Given the description of an element on the screen output the (x, y) to click on. 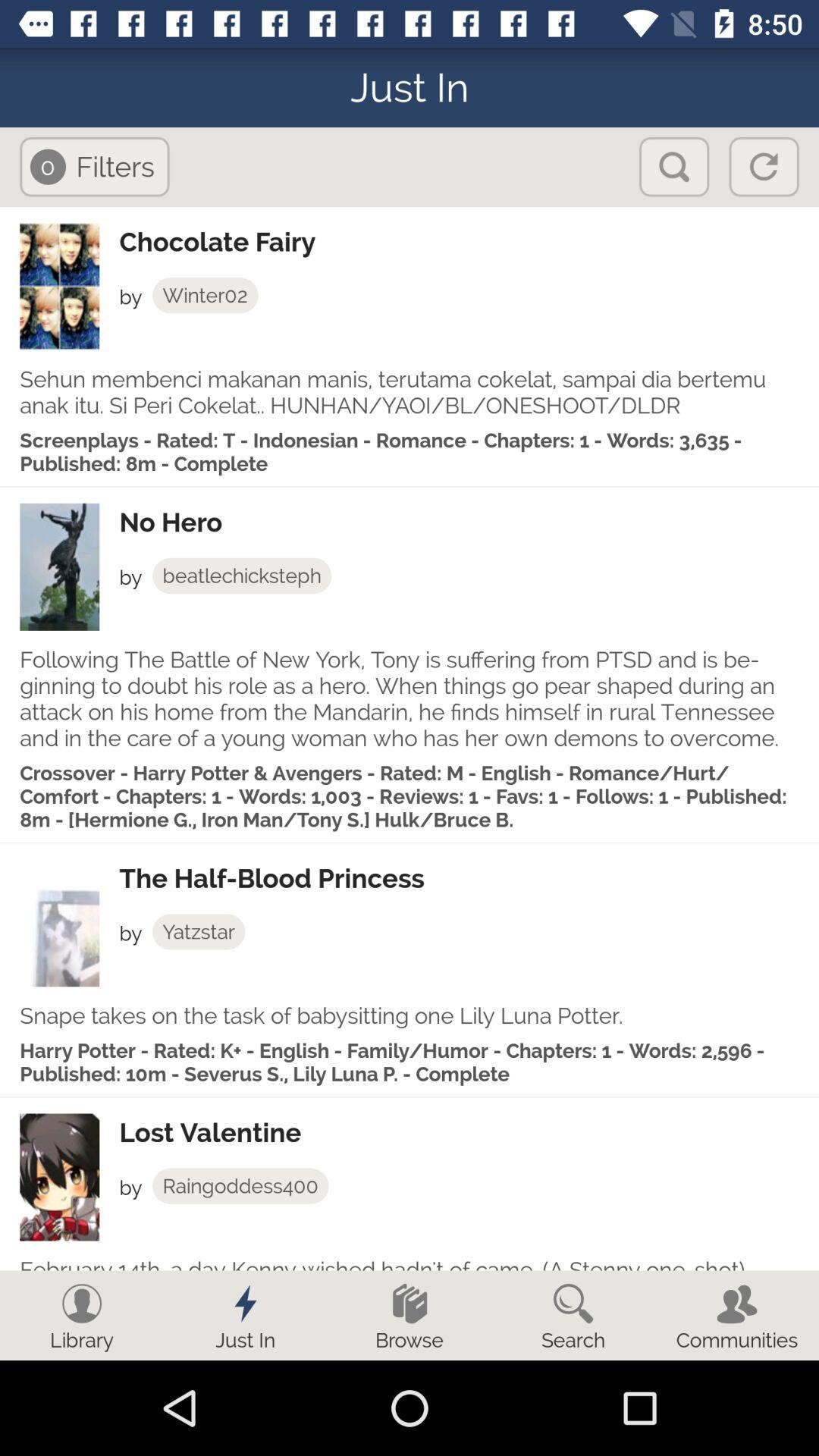
click icon above crossover harry potter (409, 698)
